Given the description of an element on the screen output the (x, y) to click on. 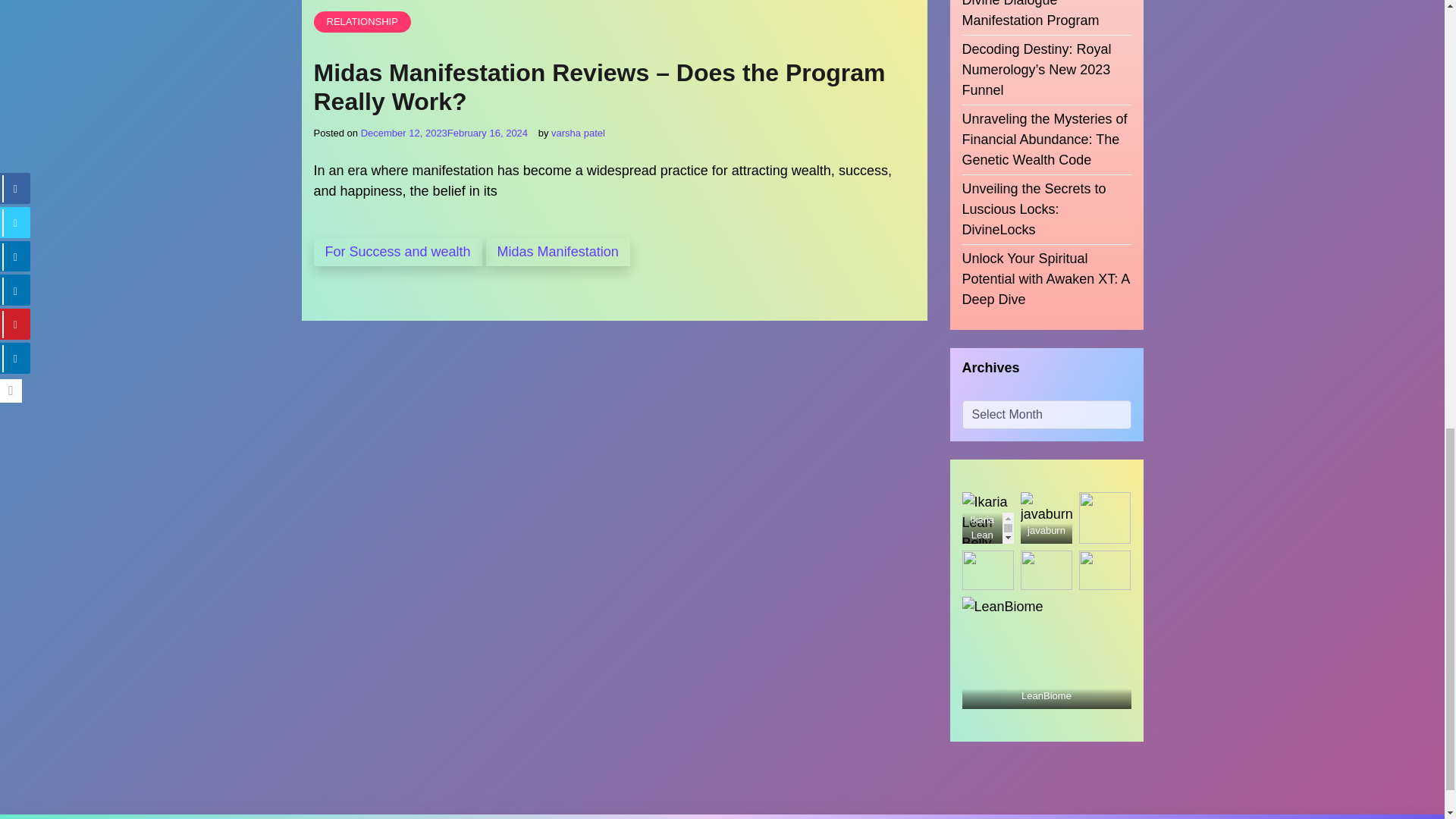
For Success and wealth (397, 252)
RELATIONSHIP (362, 21)
Unveiling the Secrets to Luscious Locks: DivineLocks (1045, 190)
Unlock Your Spiritual Potential with Awaken XT: A Deep Dive (1045, 260)
Midas Manifestation (558, 252)
varsha patel (578, 132)
December 12, 2023February 16, 2024 (444, 132)
